Given the description of an element on the screen output the (x, y) to click on. 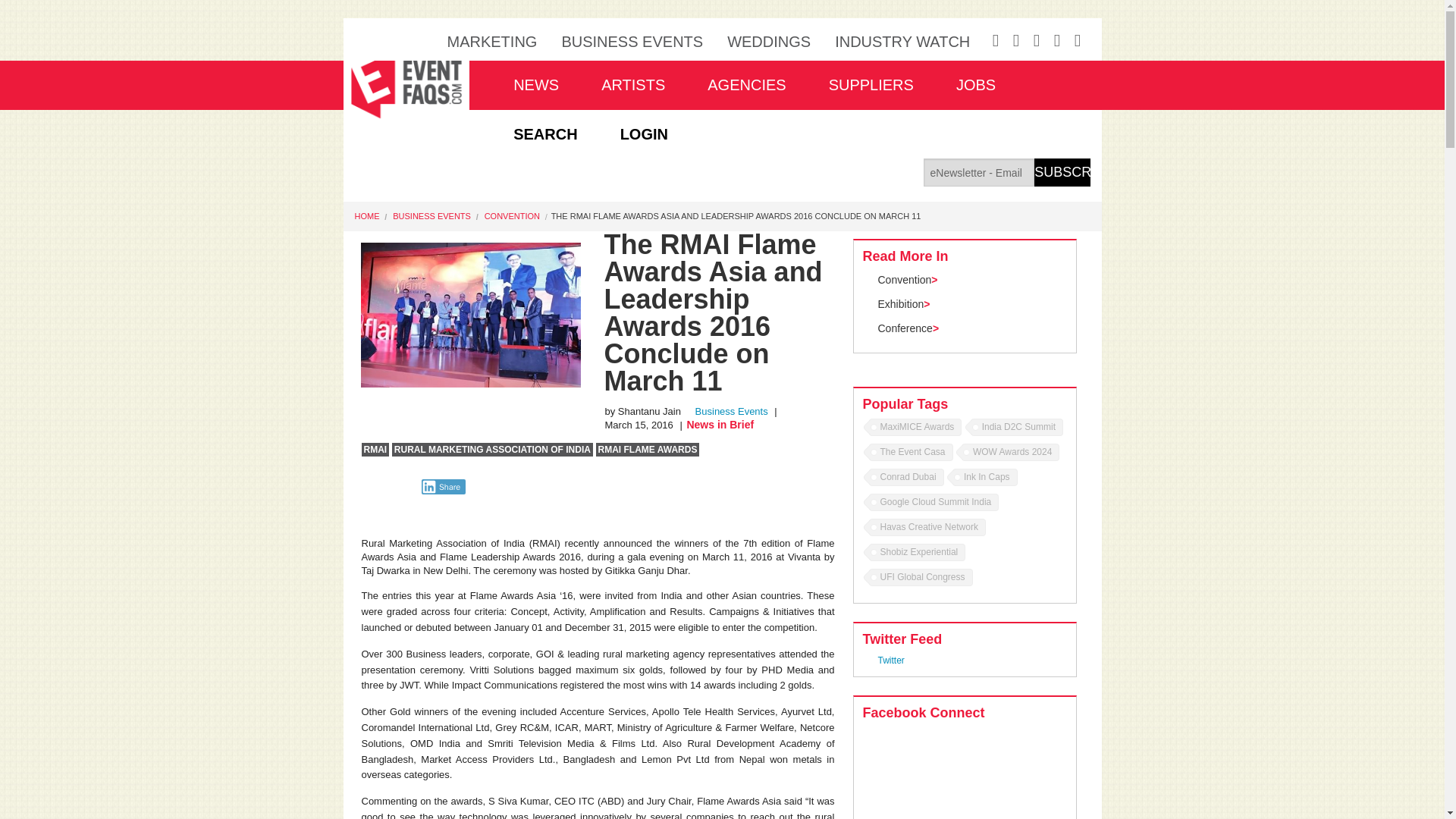
JOBS (975, 84)
BUSINESS EVENTS (631, 41)
SUPPLIERS (871, 84)
MARKETING (491, 41)
AGENCIES (745, 84)
INDUSTRY WATCH (901, 41)
SUBSCRIBE (1061, 172)
NEWS (535, 84)
SEARCH (545, 133)
SUBSCRIBE (1061, 172)
